Given the description of an element on the screen output the (x, y) to click on. 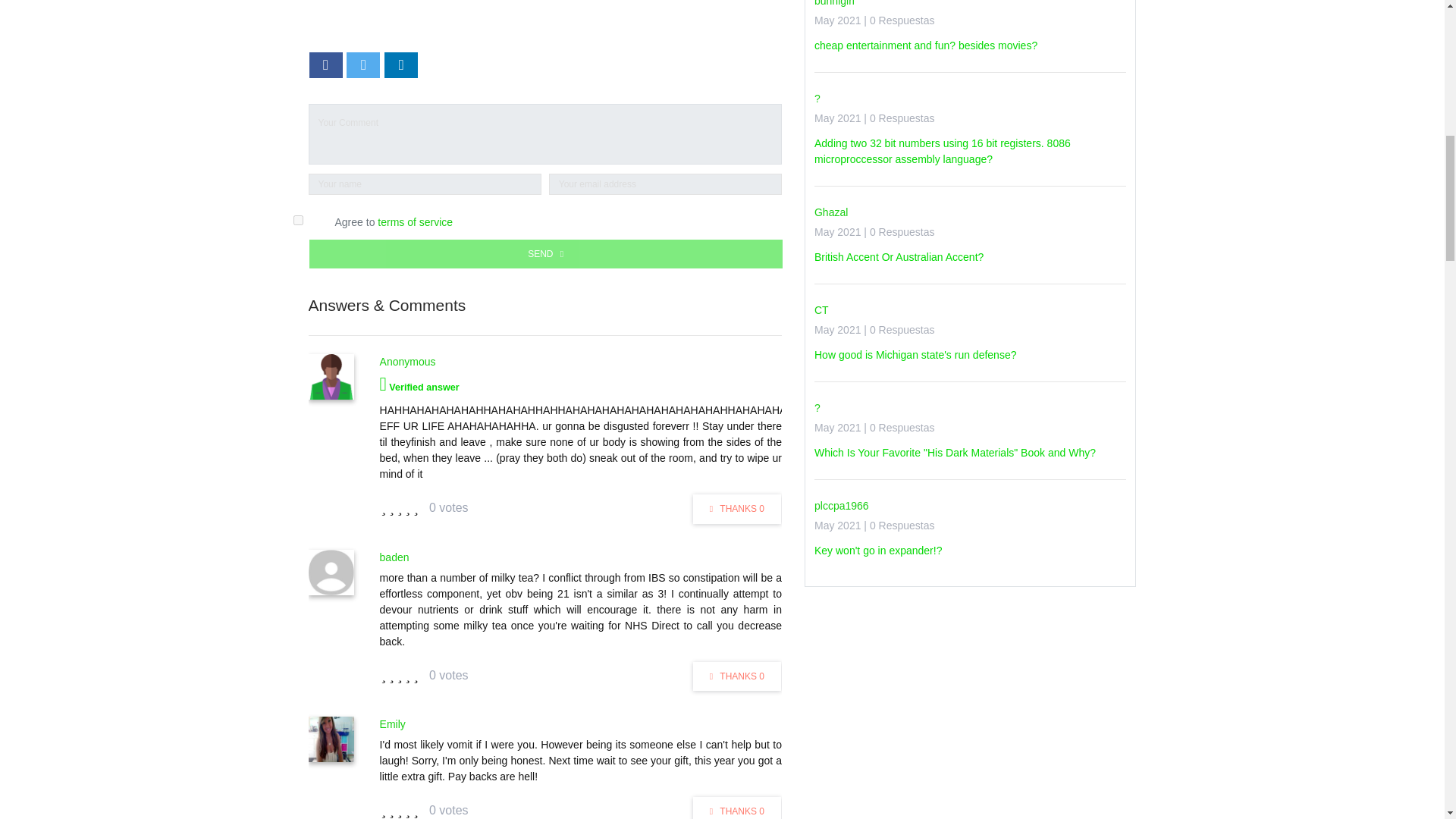
Advertisement (543, 13)
terms of service (414, 222)
Anonymous (407, 361)
SEND (545, 253)
Emily (393, 724)
baden (394, 557)
